Given the description of an element on the screen output the (x, y) to click on. 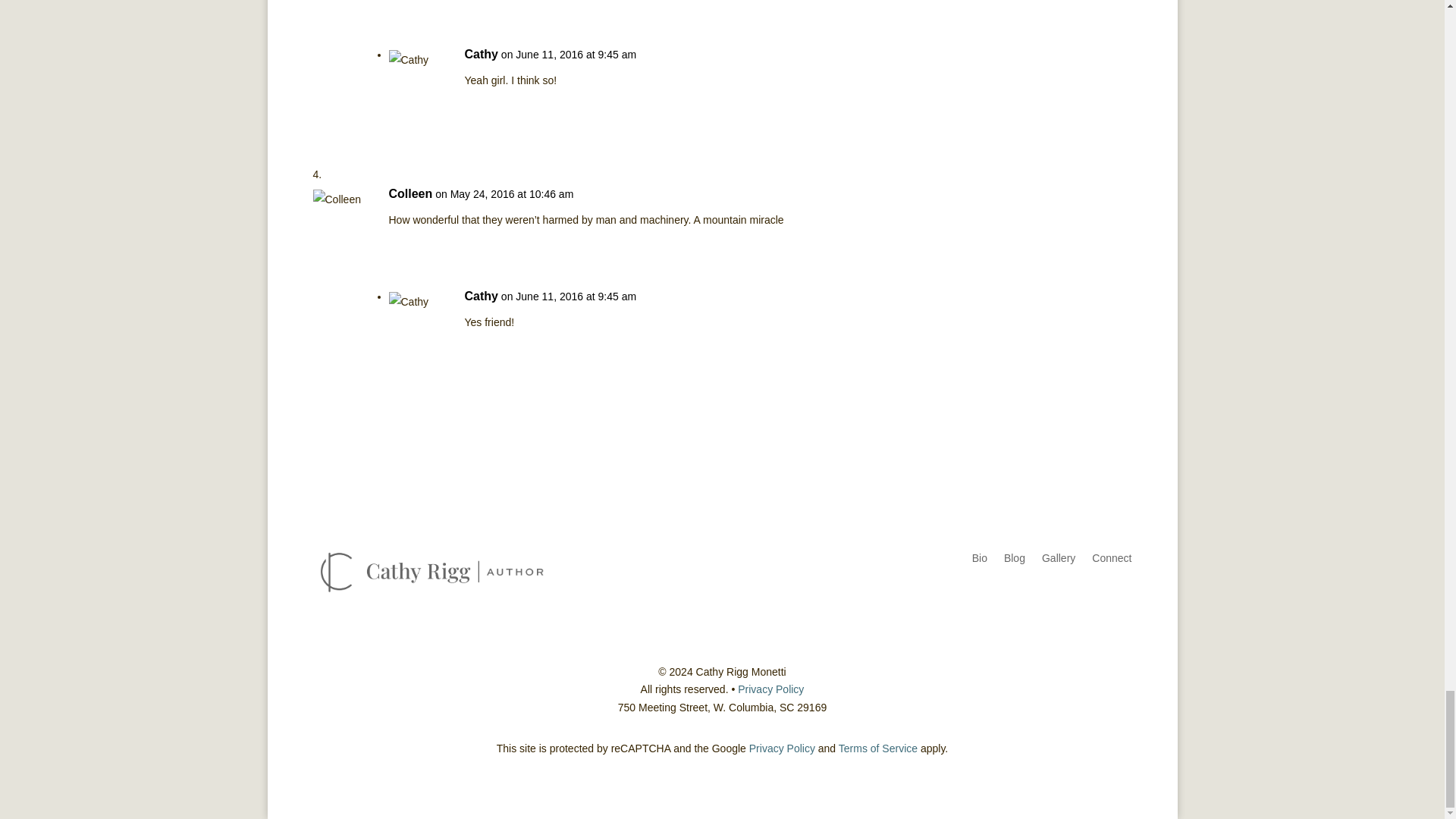
Cathy (480, 296)
Cathy (480, 54)
Follow on Instagram (1058, 604)
Follow on Facebook (1028, 604)
